Given the description of an element on the screen output the (x, y) to click on. 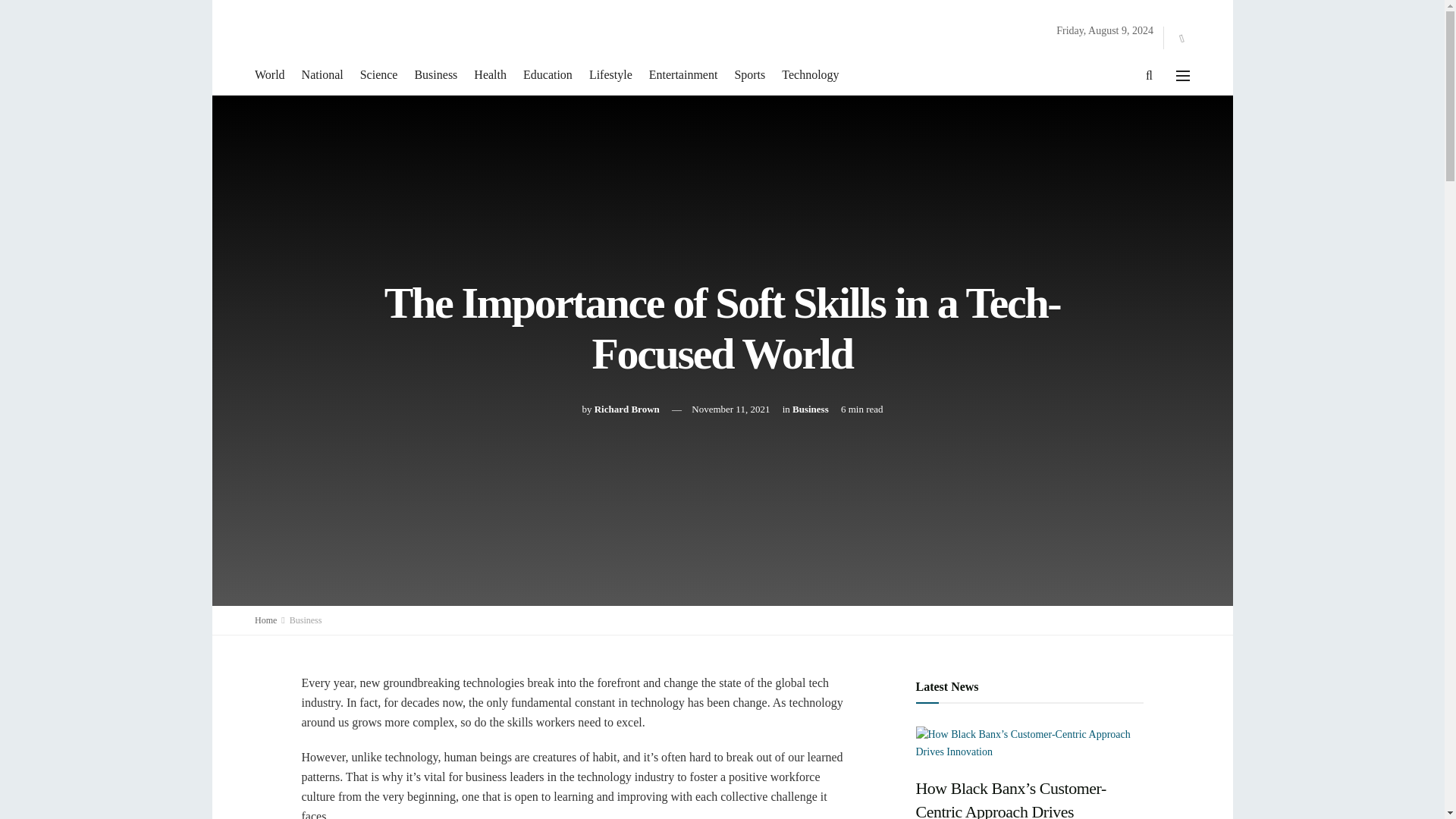
Business (435, 74)
Technology (809, 74)
Education (547, 74)
Science (378, 74)
Entertainment (683, 74)
National (322, 74)
Business (305, 620)
Richard Brown (626, 408)
Sports (749, 74)
November 11, 2021 (730, 408)
